Given the description of an element on the screen output the (x, y) to click on. 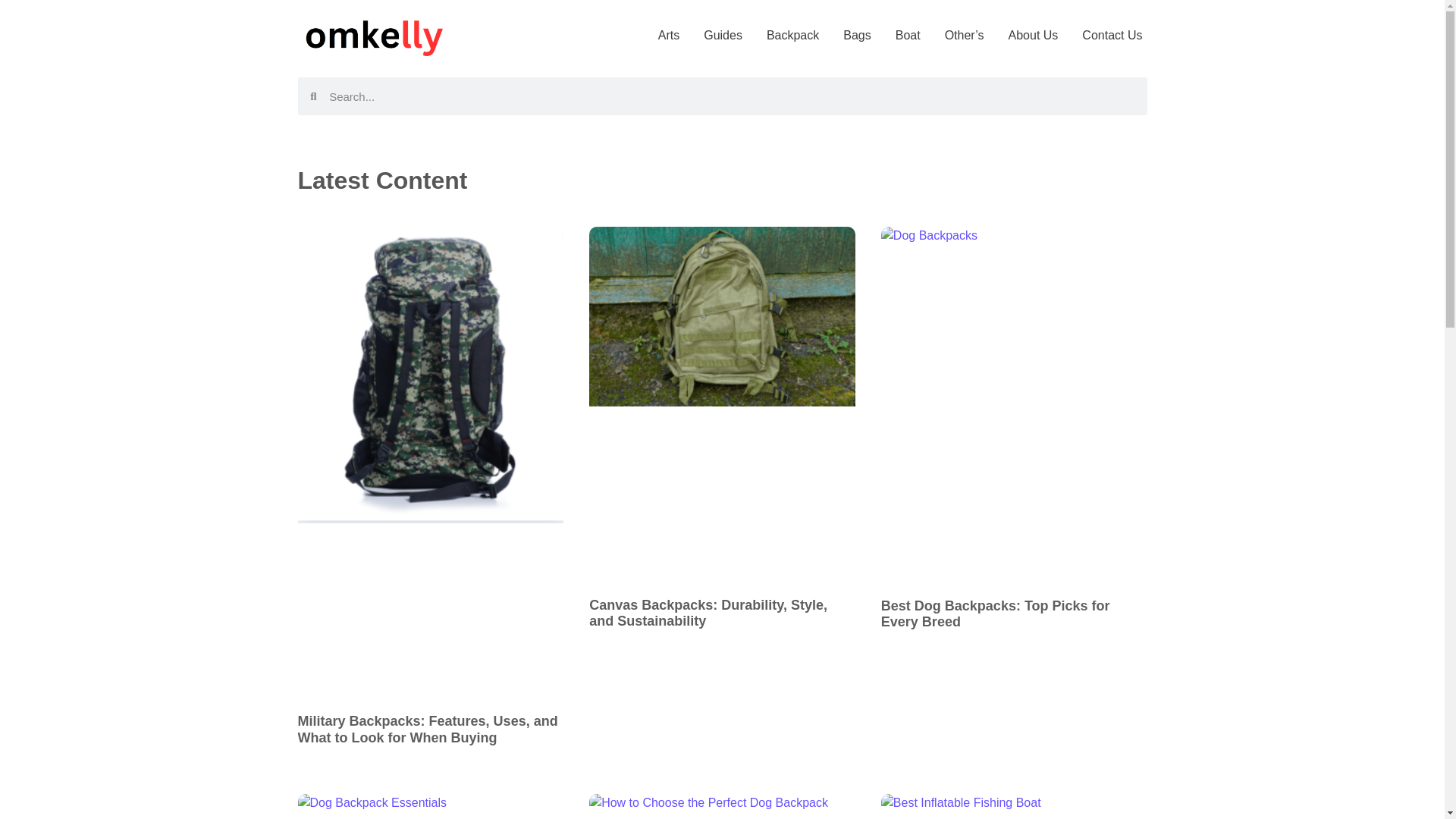
Contact Us (1112, 35)
Guides (722, 35)
About Us (1032, 35)
Search (732, 95)
Backpack (792, 35)
